Given the description of an element on the screen output the (x, y) to click on. 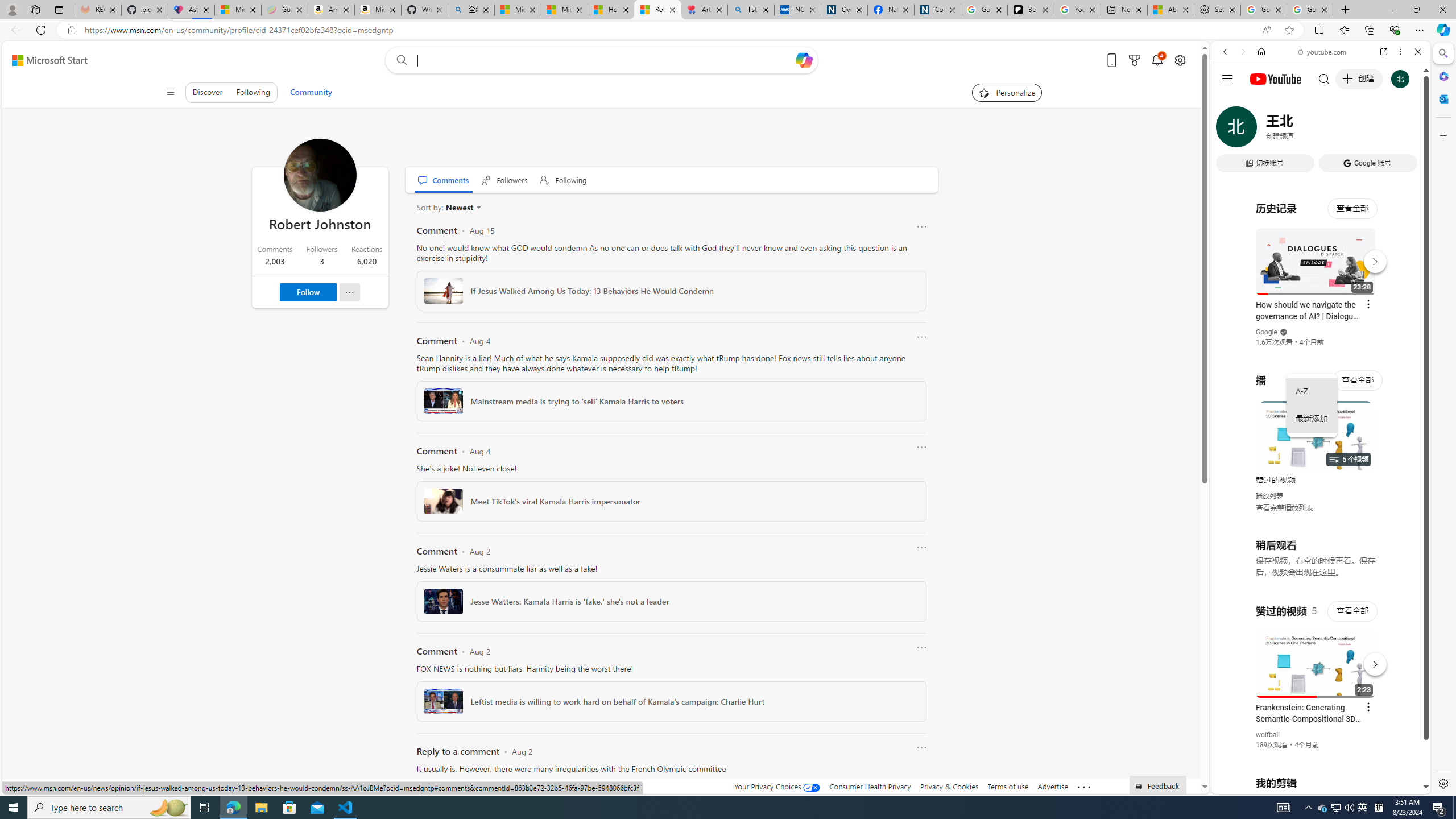
Class: dict_pnIcon rms_img (1312, 784)
Follow (308, 292)
